Given the description of an element on the screen output the (x, y) to click on. 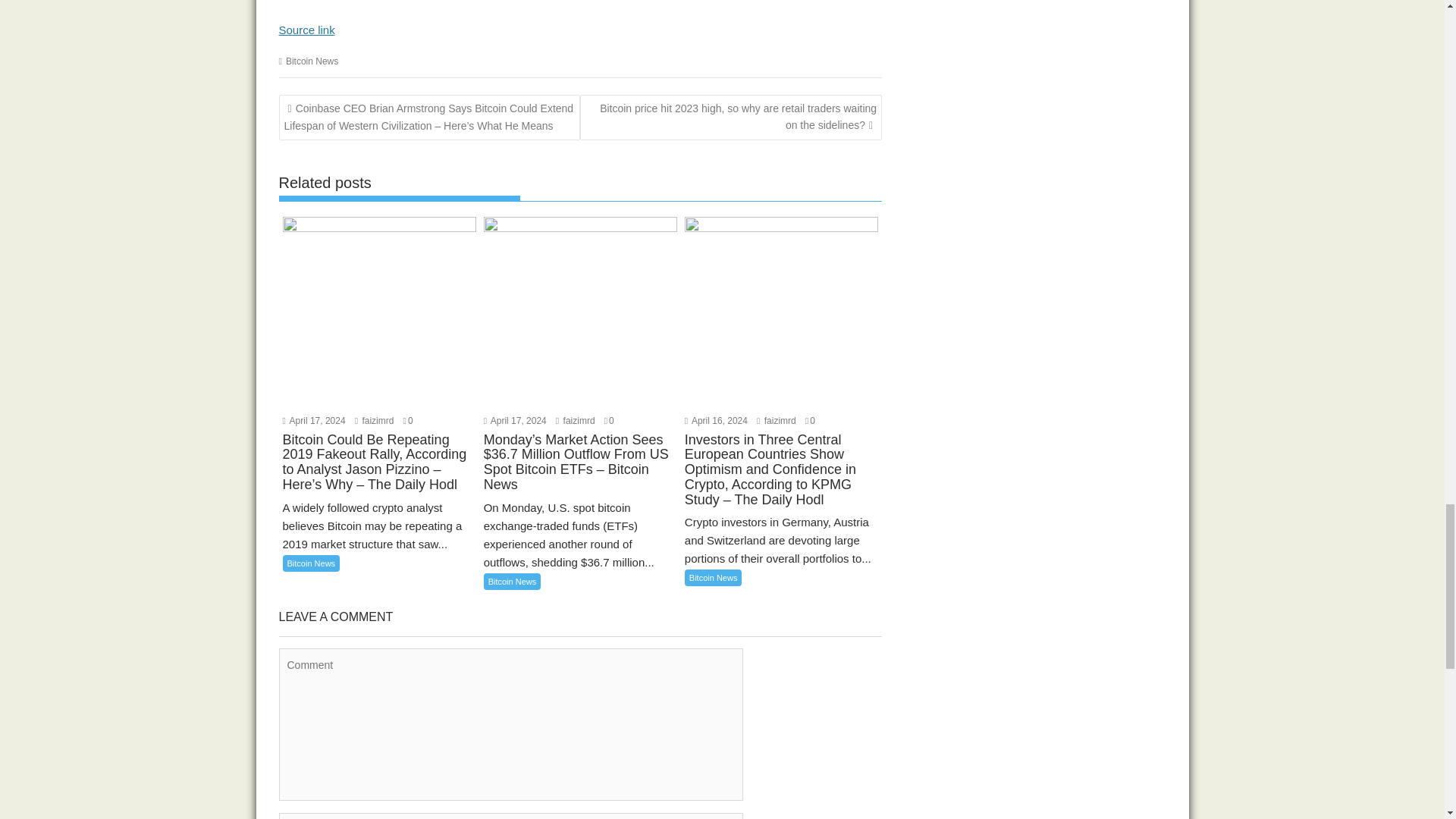
faizimrd (776, 420)
faizimrd (374, 420)
faizimrd (575, 420)
